Given the description of an element on the screen output the (x, y) to click on. 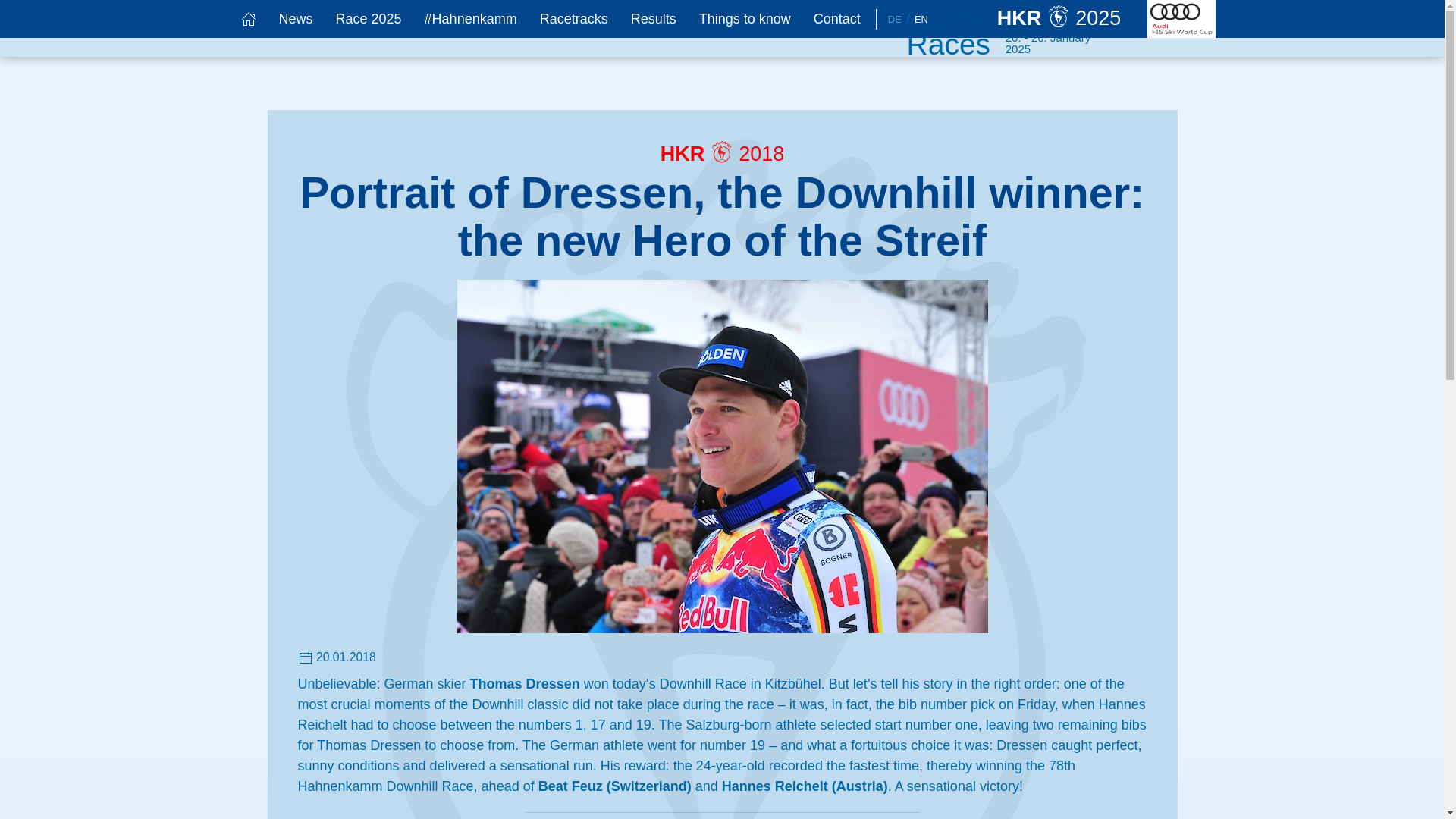
EN (921, 19)
Things to know (744, 18)
Racetracks (574, 18)
News (294, 18)
News (294, 18)
Race 2025 (368, 18)
Contact (837, 18)
Racetracks (574, 18)
Home (247, 18)
Die Seite in Deutsch ansehen (894, 19)
